Given the description of an element on the screen output the (x, y) to click on. 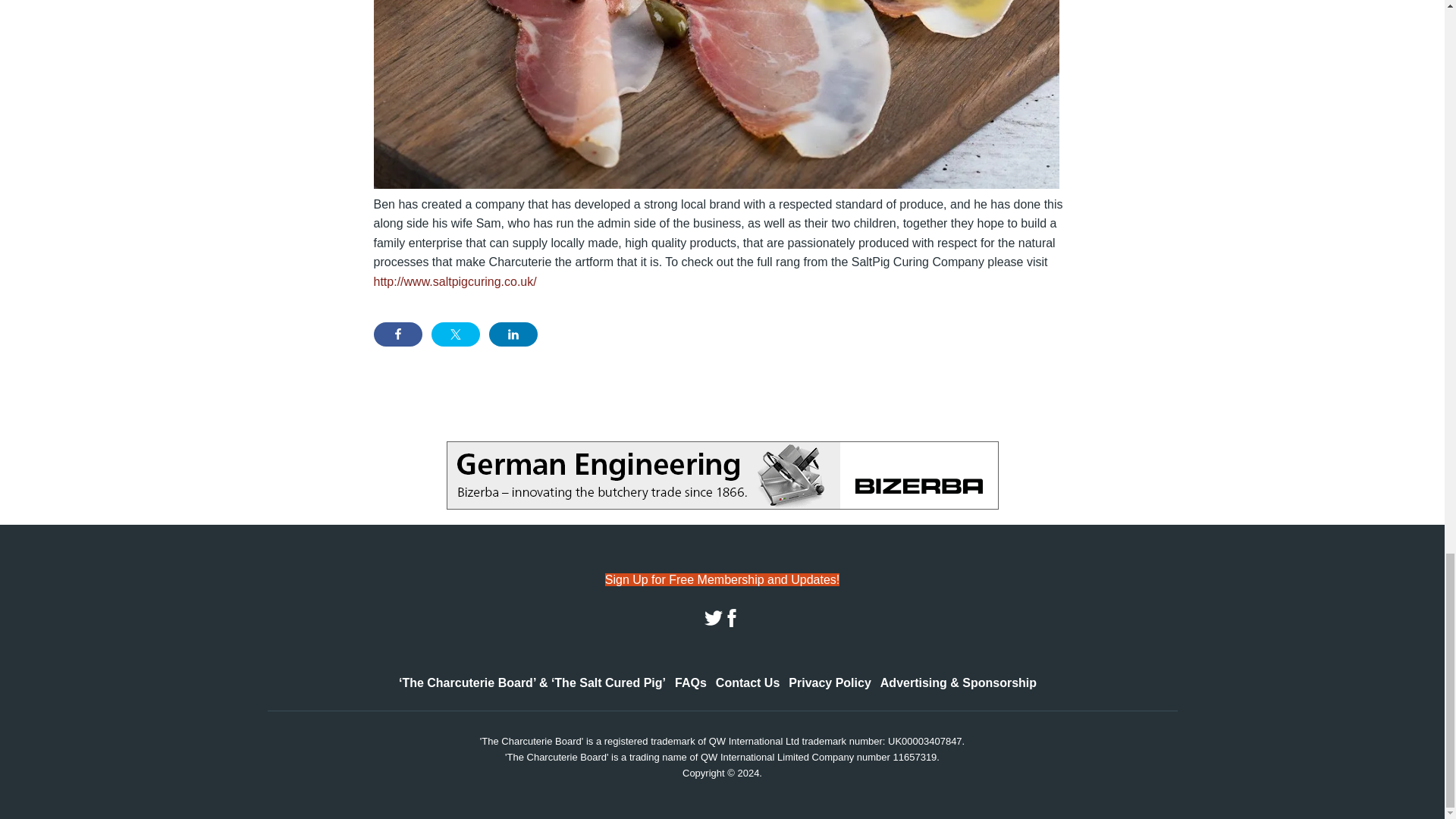
Sign Up for Free Membership and Updates (722, 579)
Share on LinkedIn (512, 333)
Sign Up for Free Membership and Updates! (722, 579)
Share on Facebook (397, 333)
Share on Twitter (454, 333)
